Given the description of an element on the screen output the (x, y) to click on. 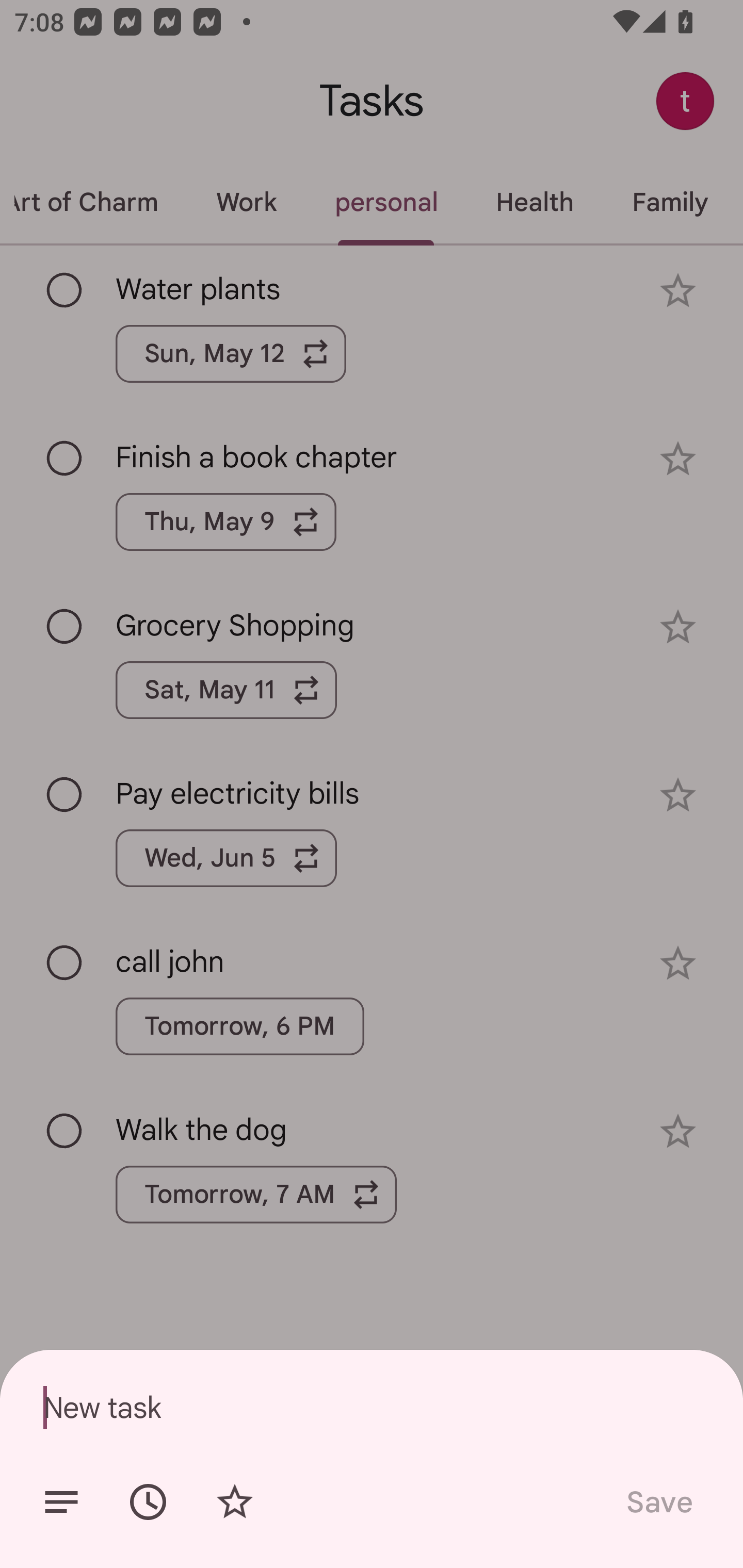
New task (371, 1407)
Save (659, 1501)
Add details (60, 1501)
Set date/time (147, 1501)
Add star (234, 1501)
